Given the description of an element on the screen output the (x, y) to click on. 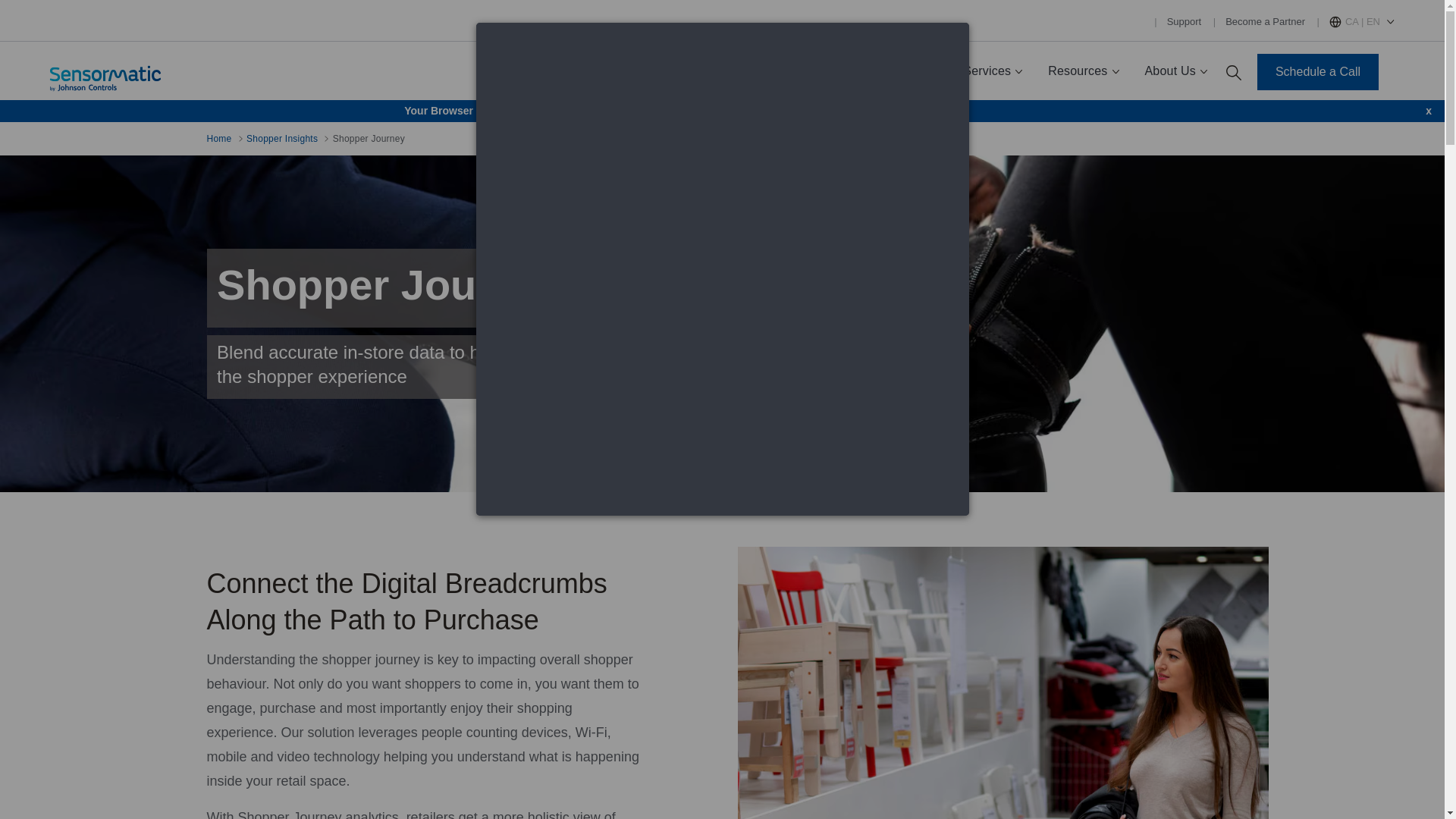
Become a Partner (1264, 21)
Support (1184, 21)
